Given the description of an element on the screen output the (x, y) to click on. 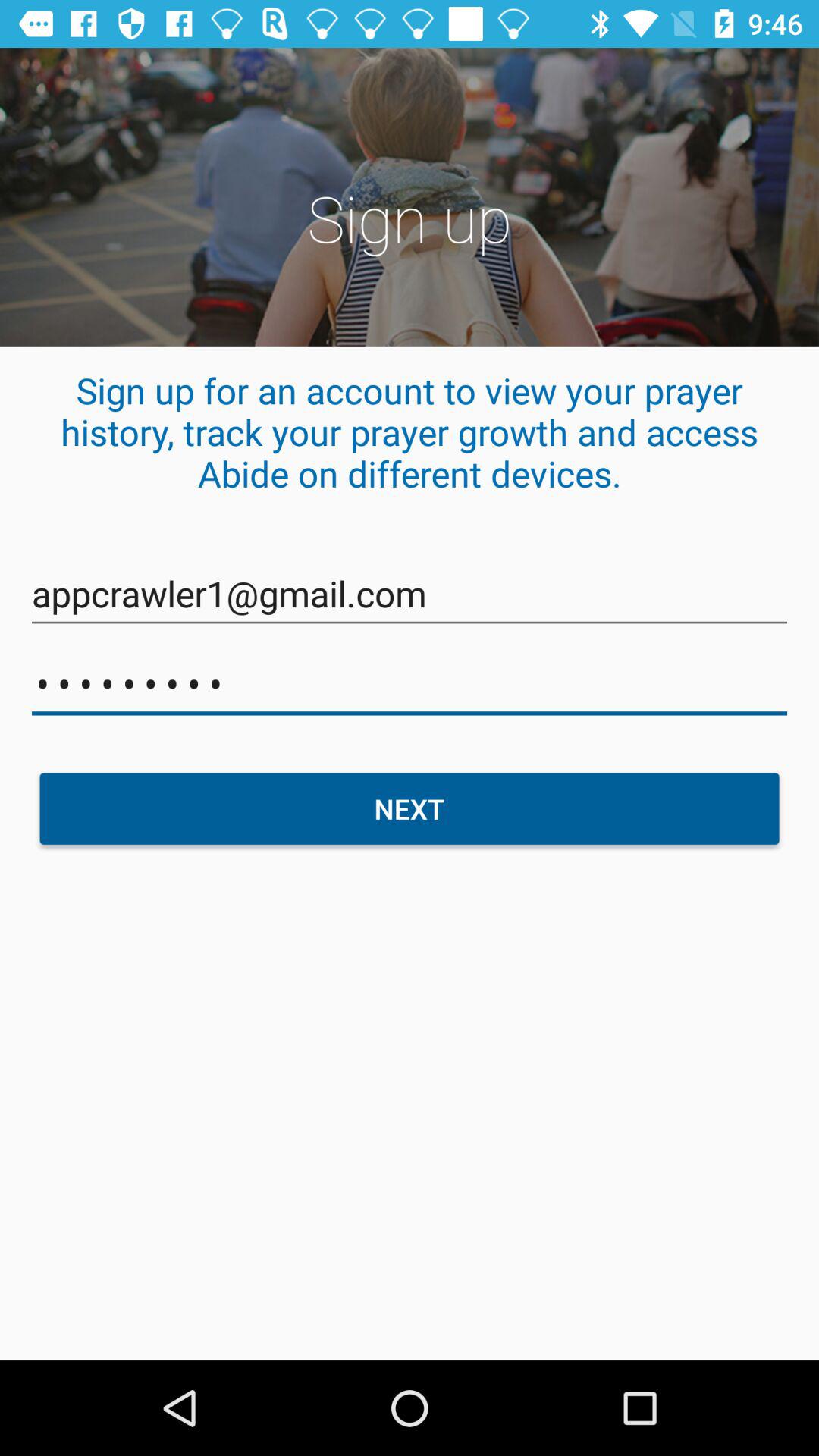
press crowd3116 item (409, 684)
